Given the description of an element on the screen output the (x, y) to click on. 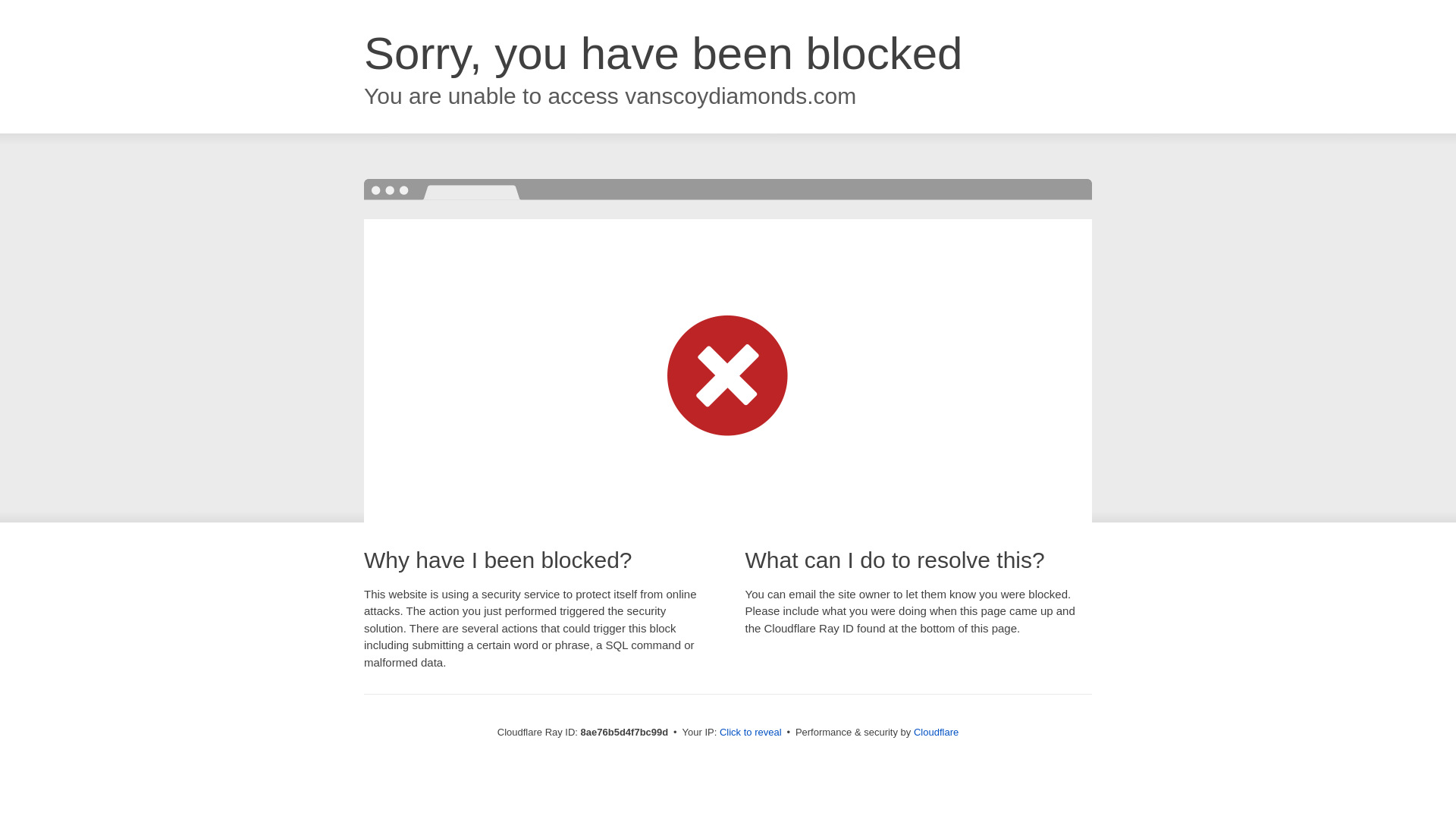
Click to reveal (750, 732)
Cloudflare (936, 731)
